Given the description of an element on the screen output the (x, y) to click on. 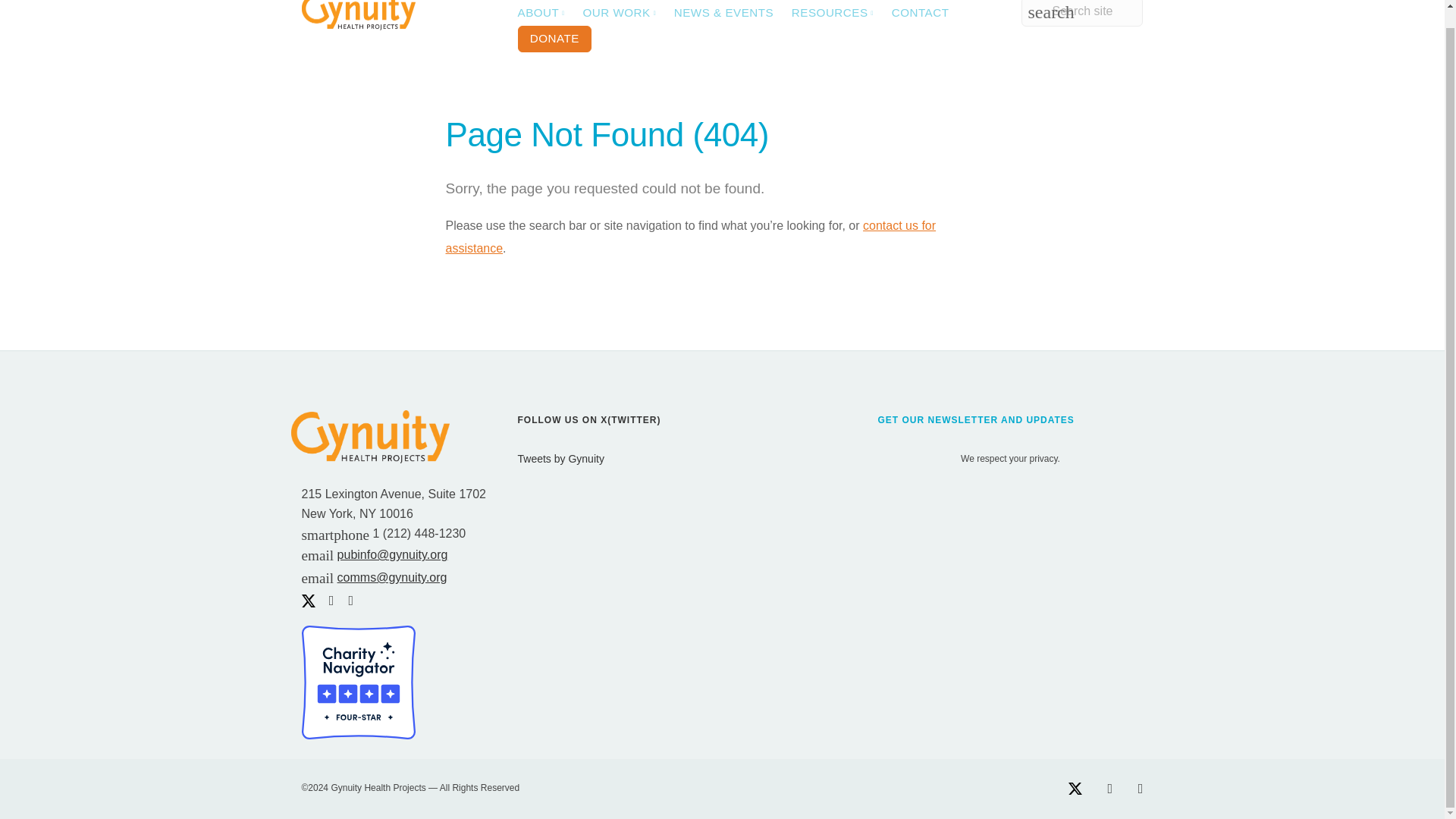
CONTACT (920, 11)
Tweets by Gynuity (560, 458)
Go to Gynuity's profile on Charity Navigator (357, 680)
contact us for assistance (690, 236)
DONATE (553, 38)
